Given the description of an element on the screen output the (x, y) to click on. 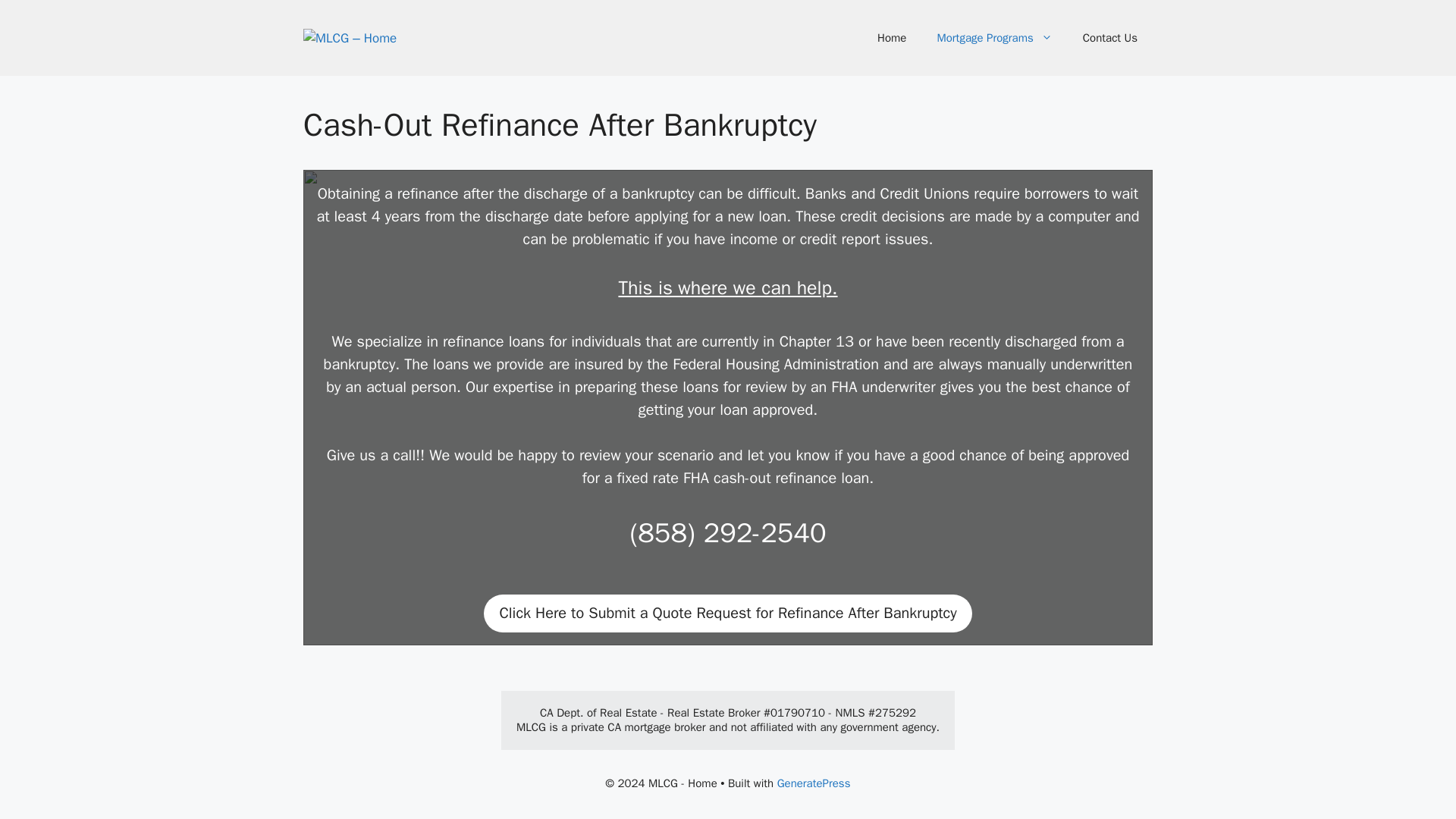
GeneratePress (813, 783)
Mortgage Programs (994, 37)
Home (891, 37)
Contact Us (1110, 37)
